Given the description of an element on the screen output the (x, y) to click on. 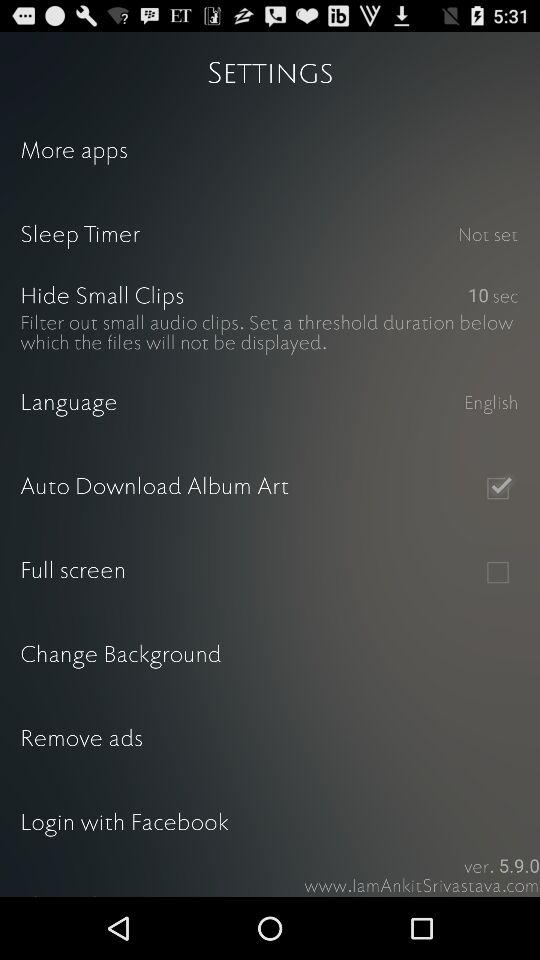
open icon to the right of the full screen (497, 572)
